Given the description of an element on the screen output the (x, y) to click on. 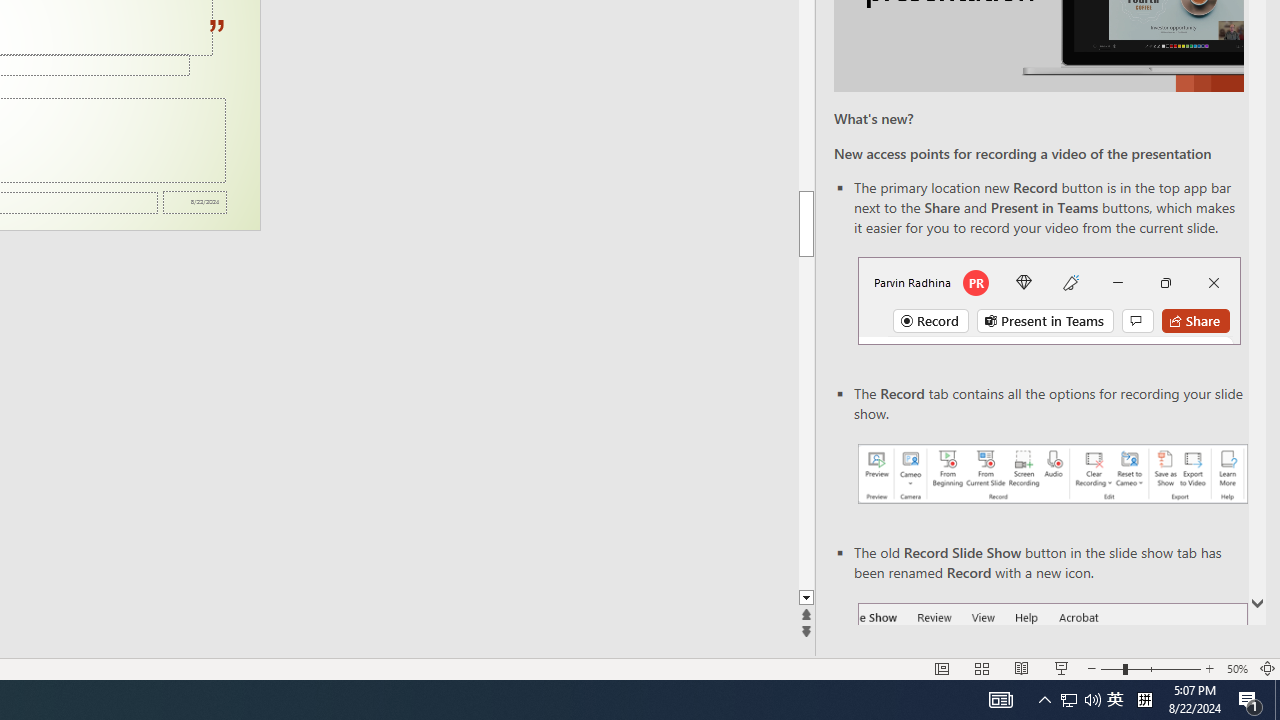
Record button in top bar (1049, 300)
Line down (806, 597)
Zoom 50% (1236, 668)
Page down (806, 423)
Date (194, 201)
Record your presentations screenshot one (1052, 473)
